Given the description of an element on the screen output the (x, y) to click on. 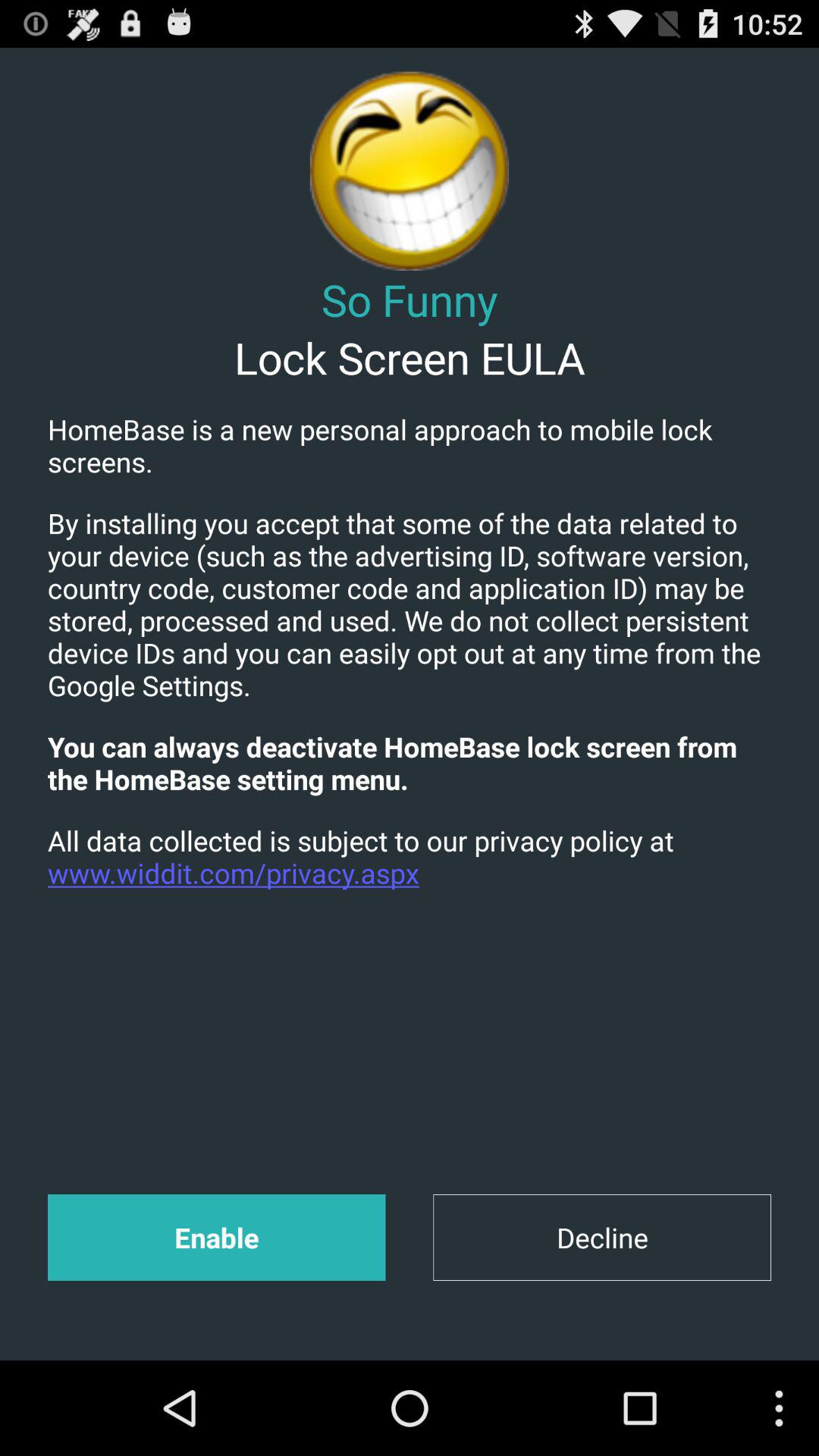
press the you can always app (409, 762)
